Given the description of an element on the screen output the (x, y) to click on. 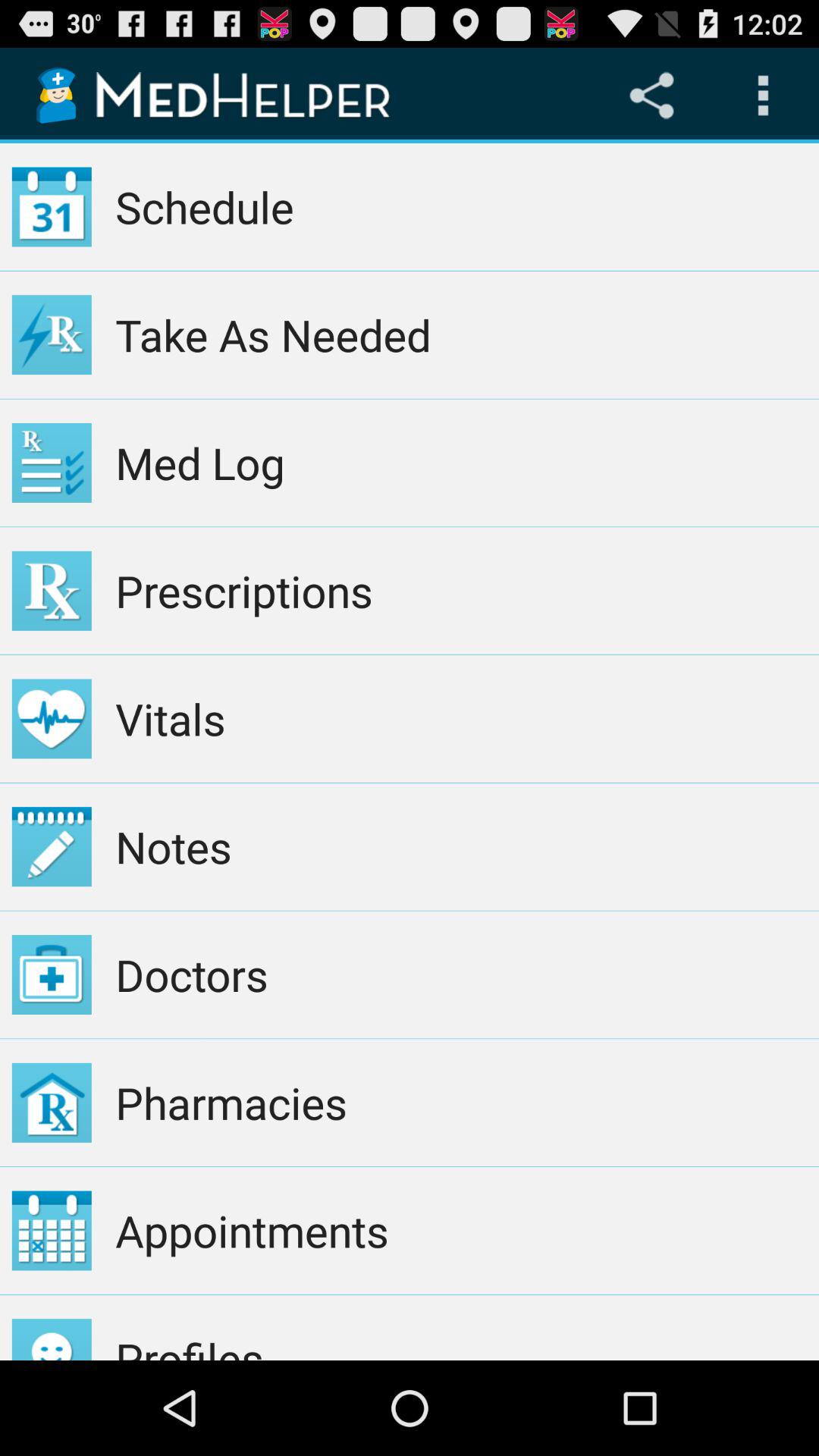
turn off the profiles (461, 1327)
